Given the description of an element on the screen output the (x, y) to click on. 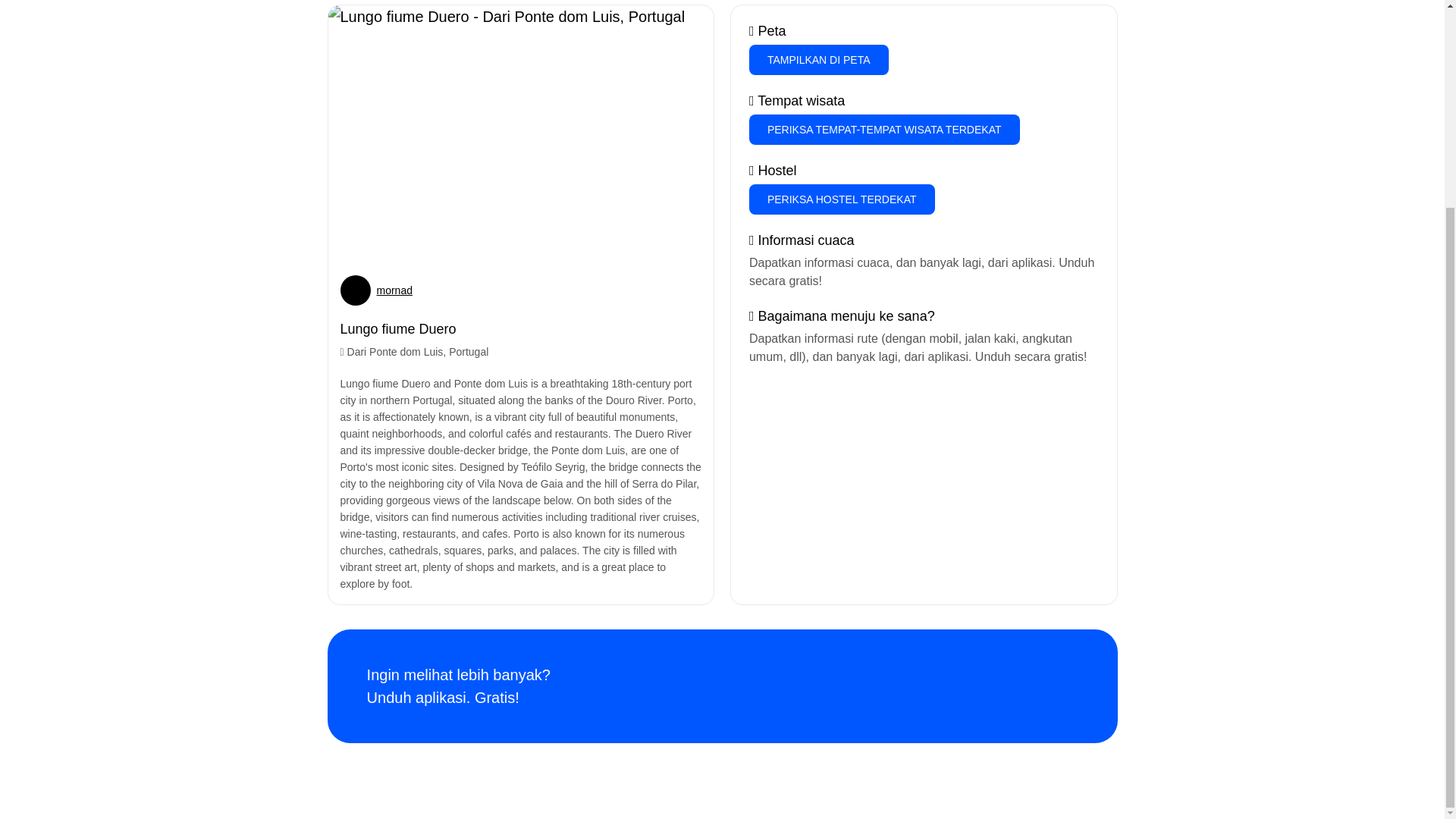
PERIKSA HOSTEL TERDEKAT (841, 199)
mornad (393, 290)
PERIKSA TEMPAT-TEMPAT WISATA TERDEKAT (884, 129)
TAMPILKAN DI PETA (818, 60)
